Given the description of an element on the screen output the (x, y) to click on. 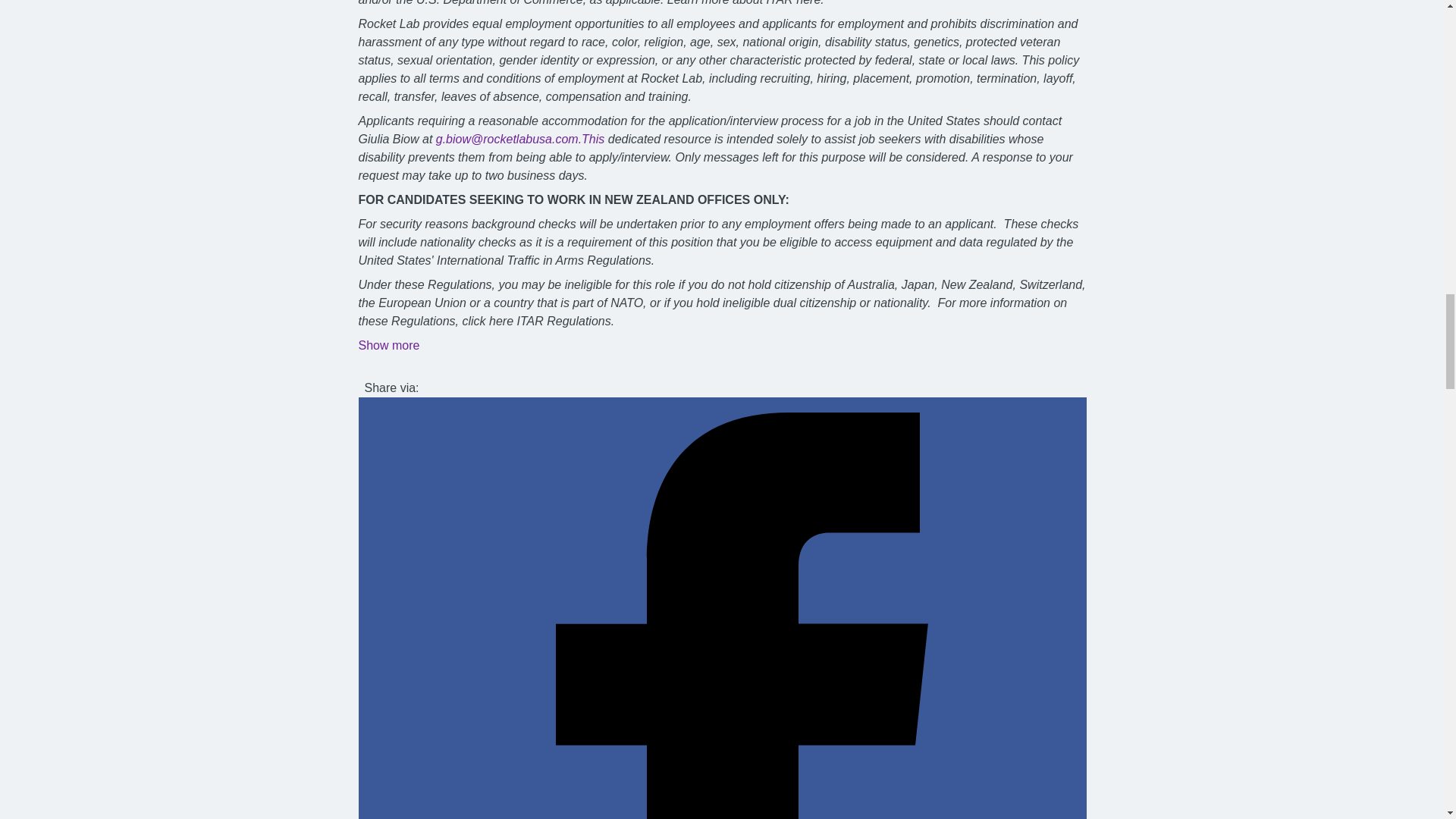
Show more (388, 345)
